Given the description of an element on the screen output the (x, y) to click on. 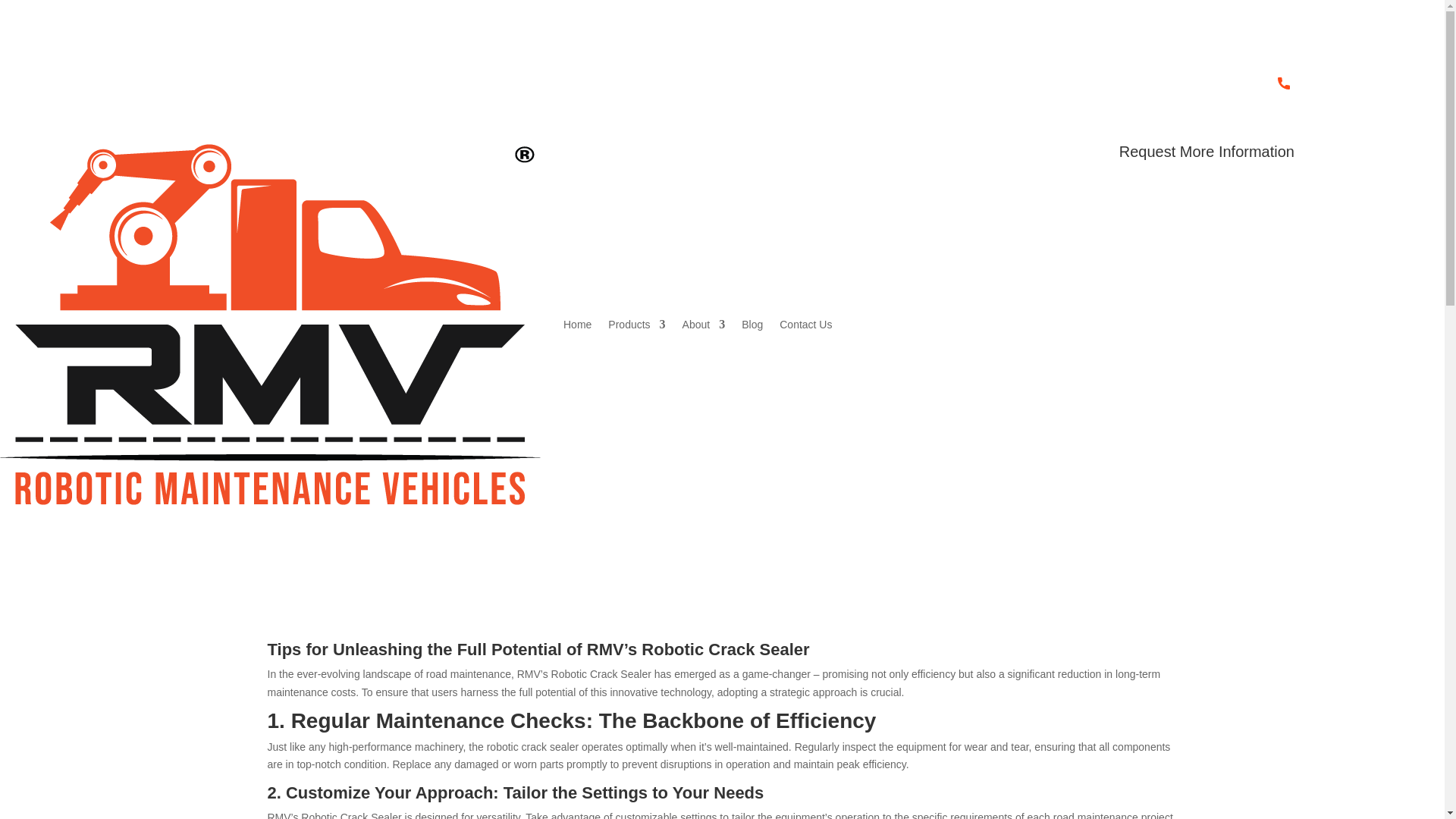
Click to Call (1284, 82)
Follow on Instagram (1371, 79)
Follow on LinkedIn (1310, 79)
Follow on Facebook (1341, 79)
Follow on Youtube (1401, 79)
